Given the description of an element on the screen output the (x, y) to click on. 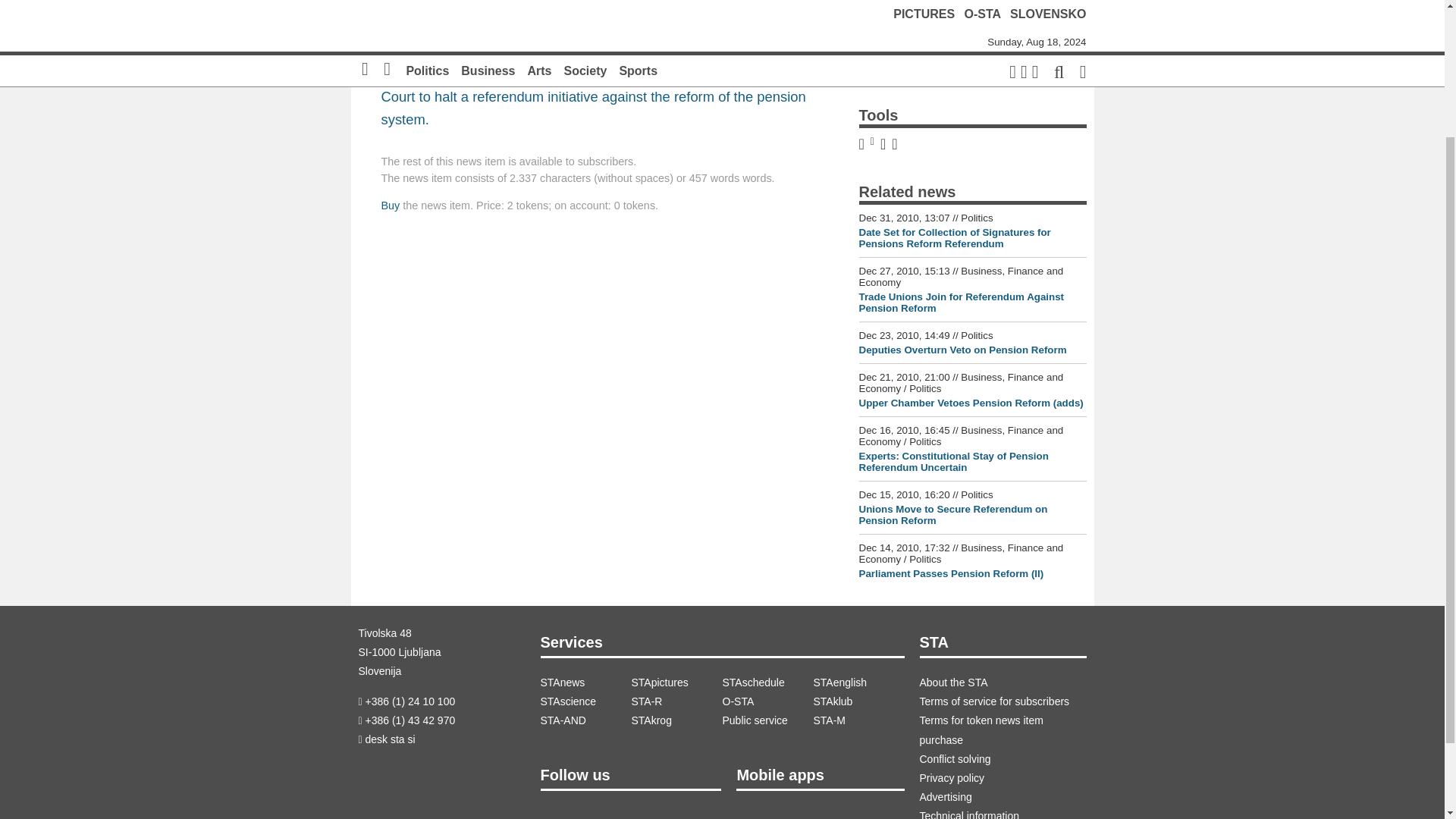
Experts: Constitutional Stay of Pension Referendum Uncertain (953, 461)
STAnews (585, 682)
Buy (389, 205)
Unions Move to Secure Referendum on Pension Reform (952, 514)
STAenglish (858, 682)
STApictures (676, 682)
Trade Unions Join for Referendum Against Pension Reform (961, 302)
STAscience (585, 701)
STAschedule (767, 682)
